Given the description of an element on the screen output the (x, y) to click on. 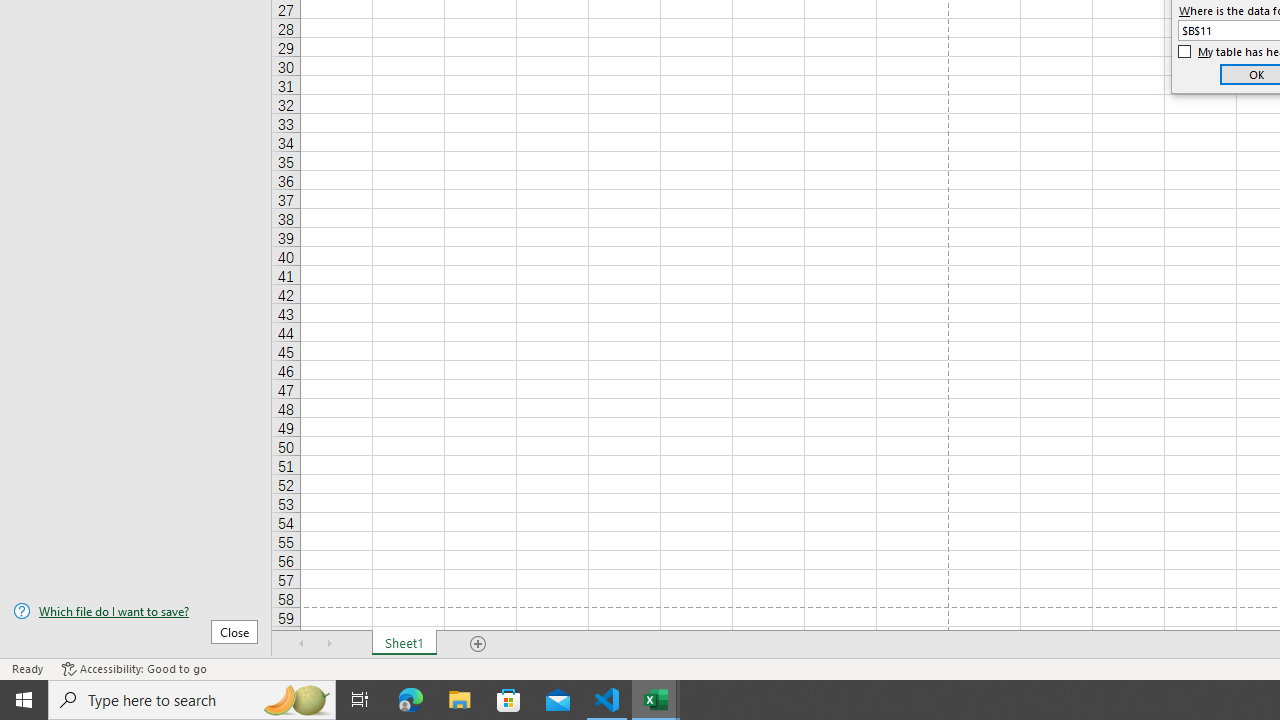
Which file do I want to save? (136, 611)
